Given the description of an element on the screen output the (x, y) to click on. 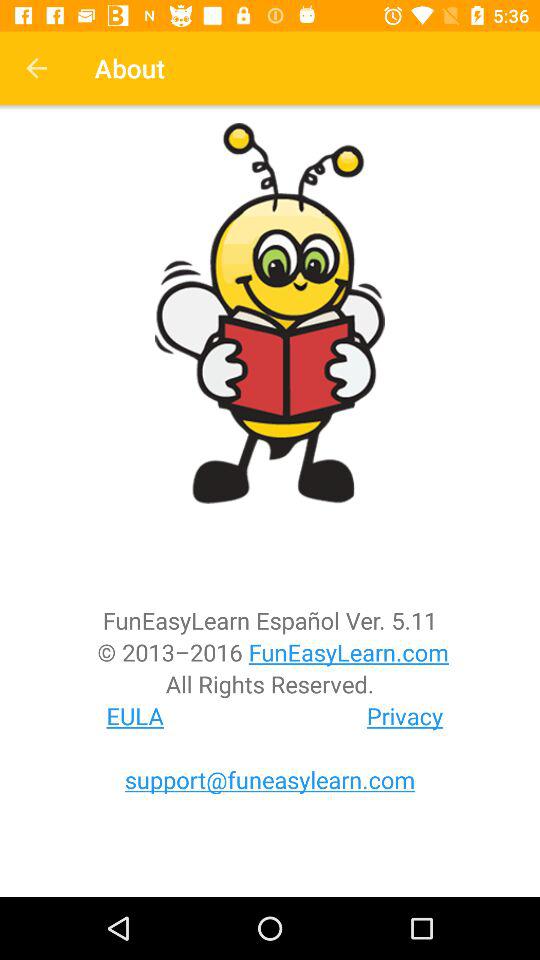
swipe until 2013 2016 funeasylearn icon (270, 652)
